Given the description of an element on the screen output the (x, y) to click on. 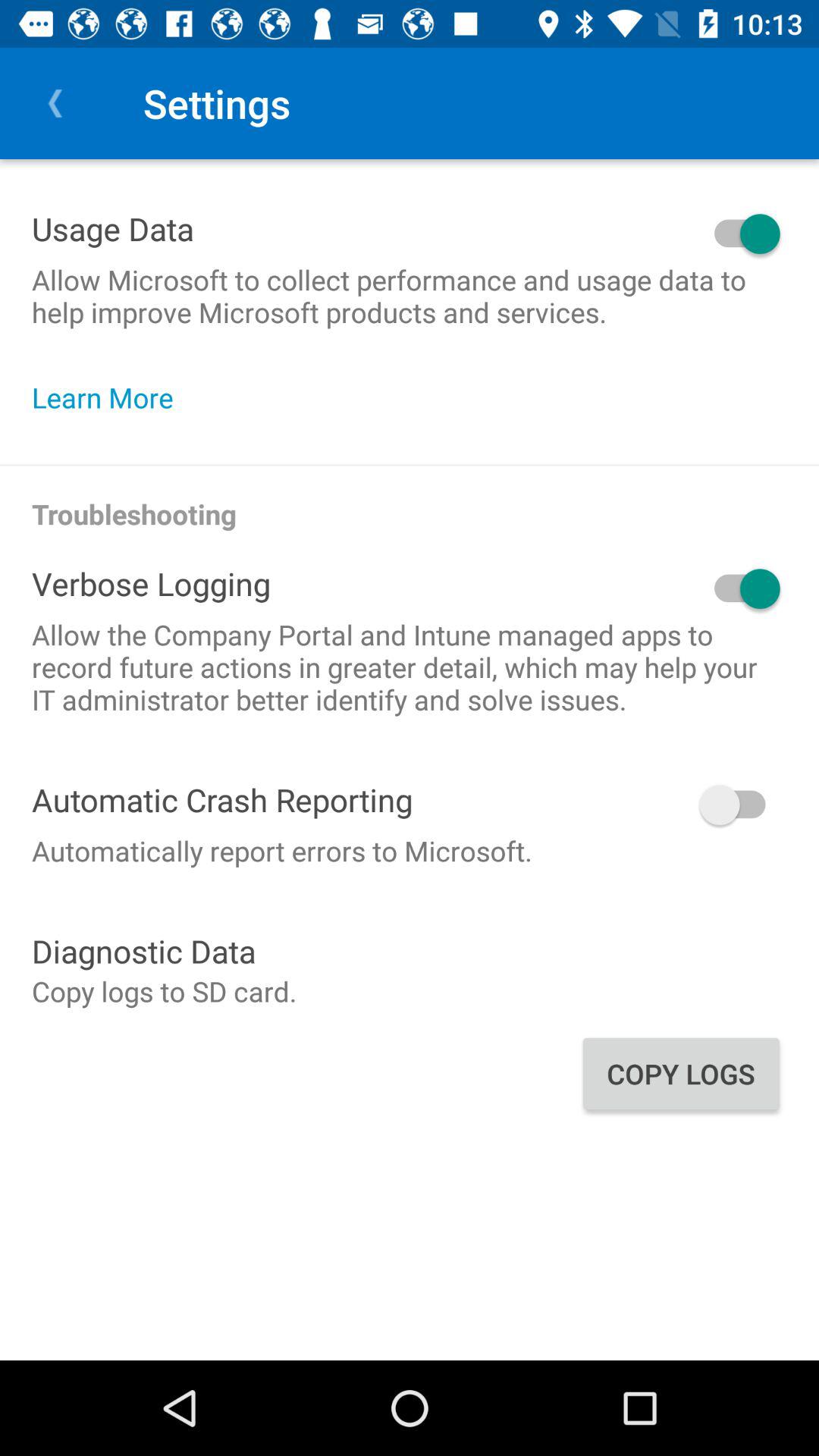
press icon to the left of the settings (55, 103)
